Given the description of an element on the screen output the (x, y) to click on. 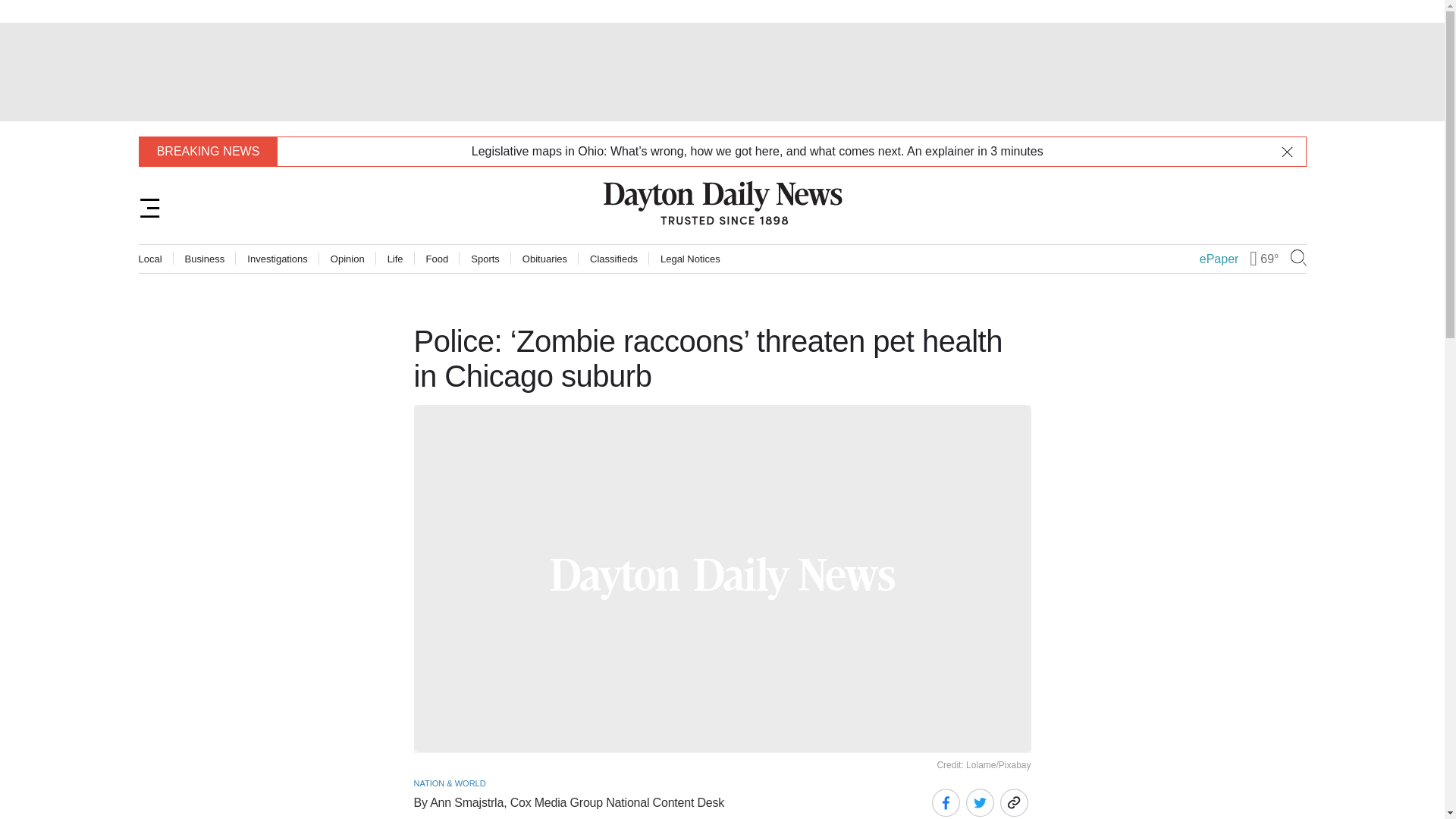
Partly sunny (1253, 259)
Local (149, 258)
Sports (484, 258)
Legal Notices (690, 258)
Food (437, 258)
Investigations (277, 258)
Life (395, 258)
ePaper (1219, 259)
Opinion (347, 258)
Obituaries (544, 258)
Classifieds (613, 258)
Business (204, 258)
